Given the description of an element on the screen output the (x, y) to click on. 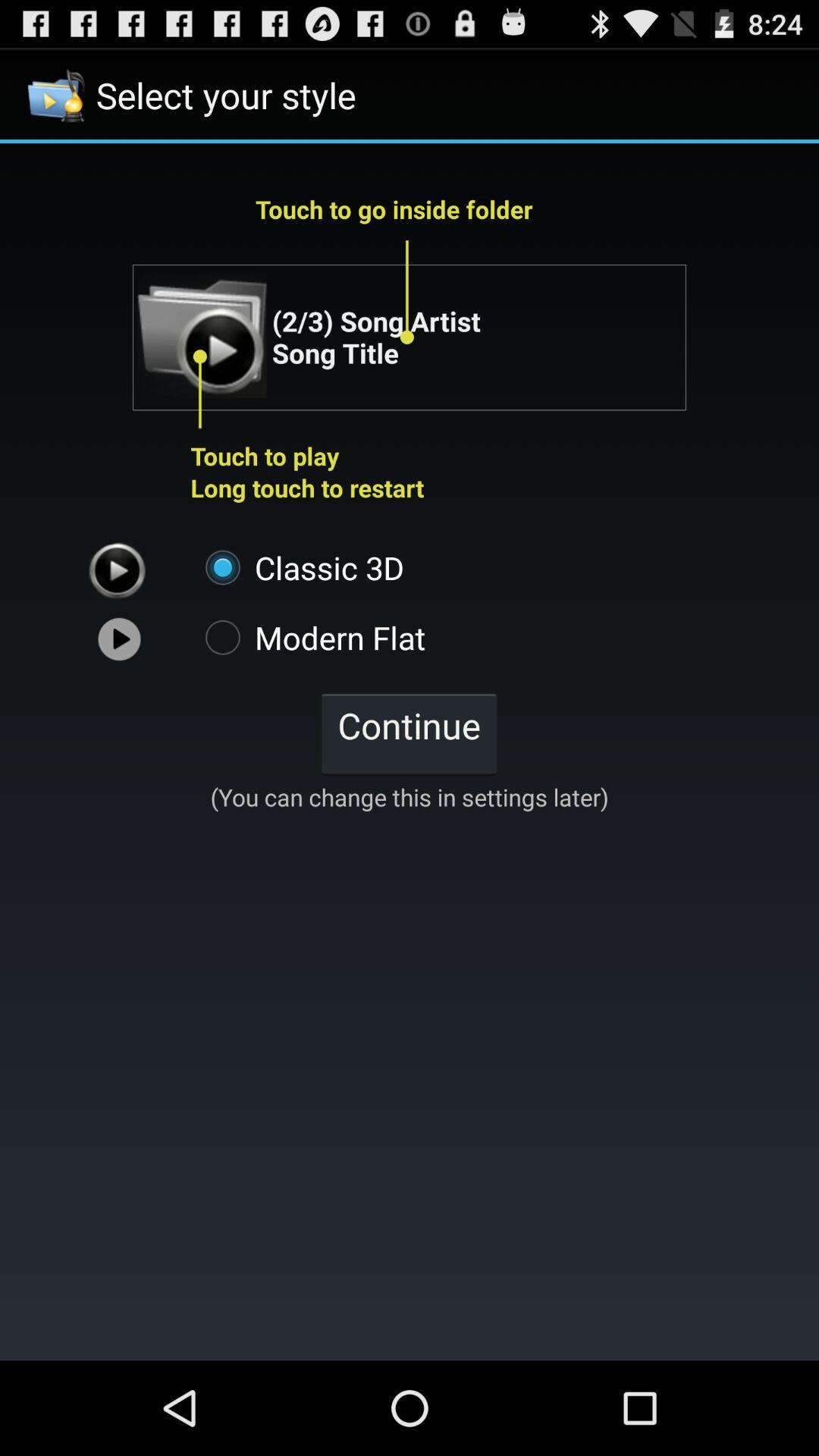
scroll until the classic 3d item (297, 567)
